Given the description of an element on the screen output the (x, y) to click on. 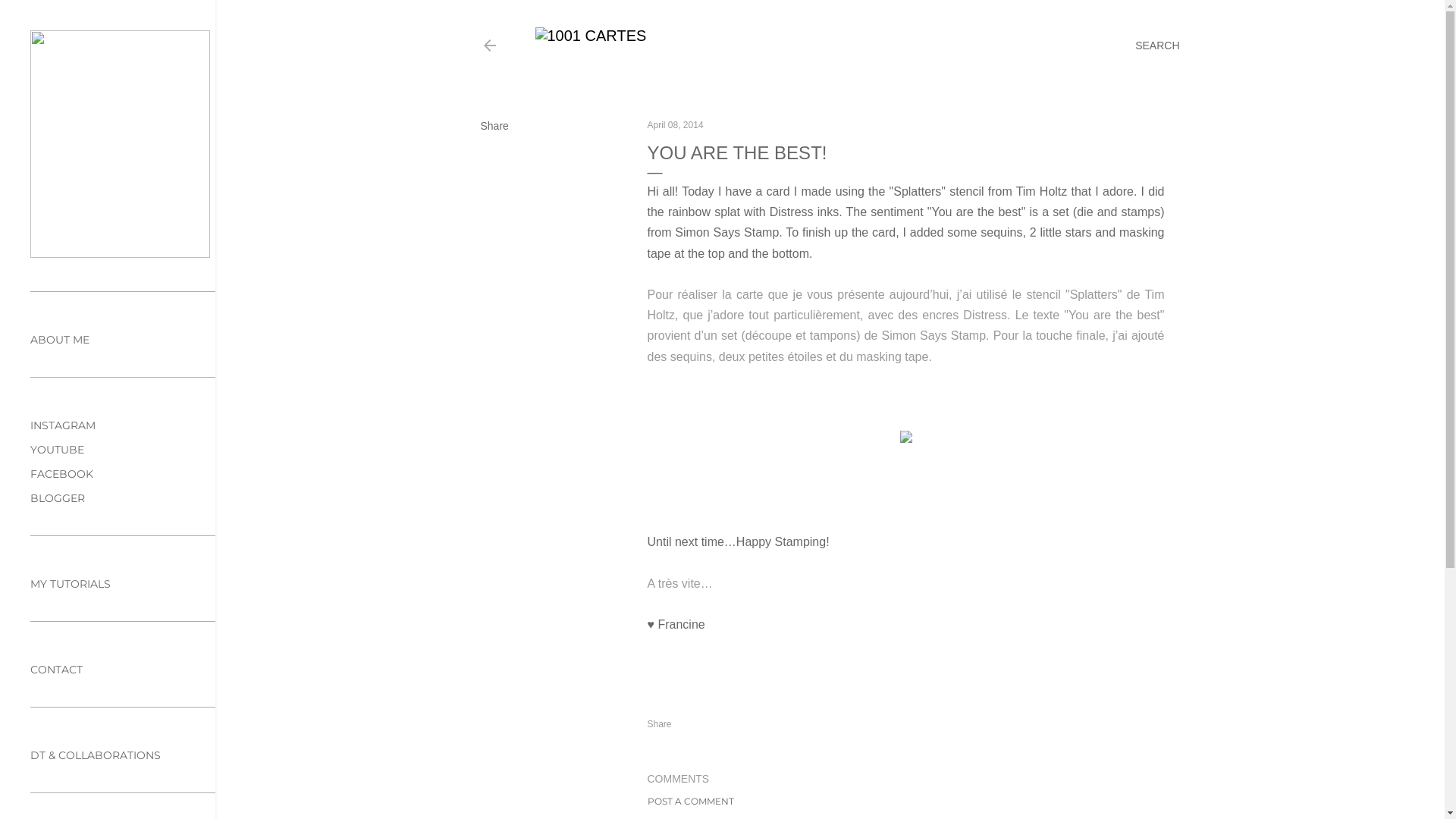
ABOUT ME Element type: text (59, 339)
April 08, 2014 Element type: text (675, 124)
FACEBOOK Element type: text (61, 473)
DT & COLLABORATIONS Element type: text (95, 755)
Share Element type: text (659, 723)
YOUTUBE Element type: text (57, 449)
Share Element type: text (494, 125)
INSTAGRAM Element type: text (62, 425)
POST A COMMENT Element type: text (690, 800)
BLOGGER Element type: text (57, 498)
MY TUTORIALS Element type: text (70, 583)
SEARCH Element type: text (1157, 45)
CONTACT Element type: text (56, 669)
